Given the description of an element on the screen output the (x, y) to click on. 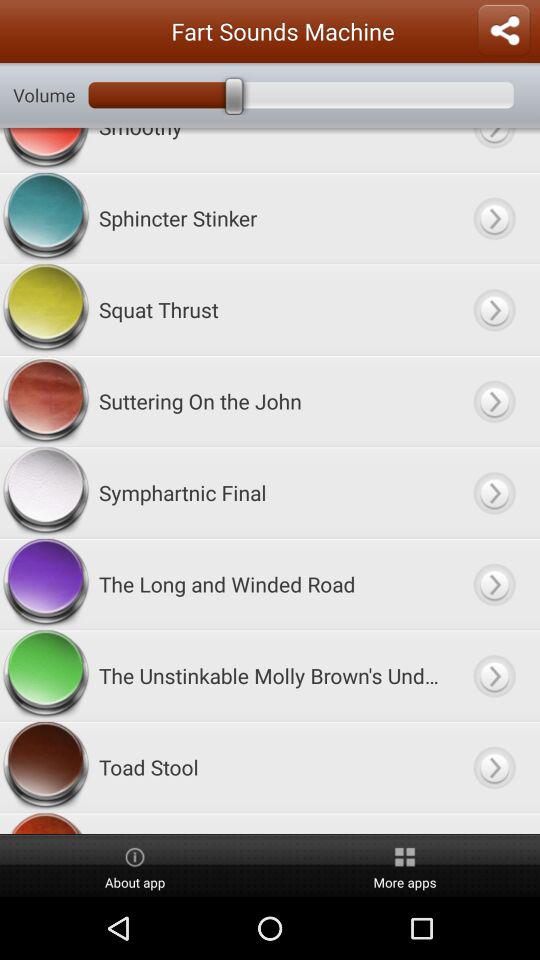
swipe until squat thrust icon (269, 309)
